Given the description of an element on the screen output the (x, y) to click on. 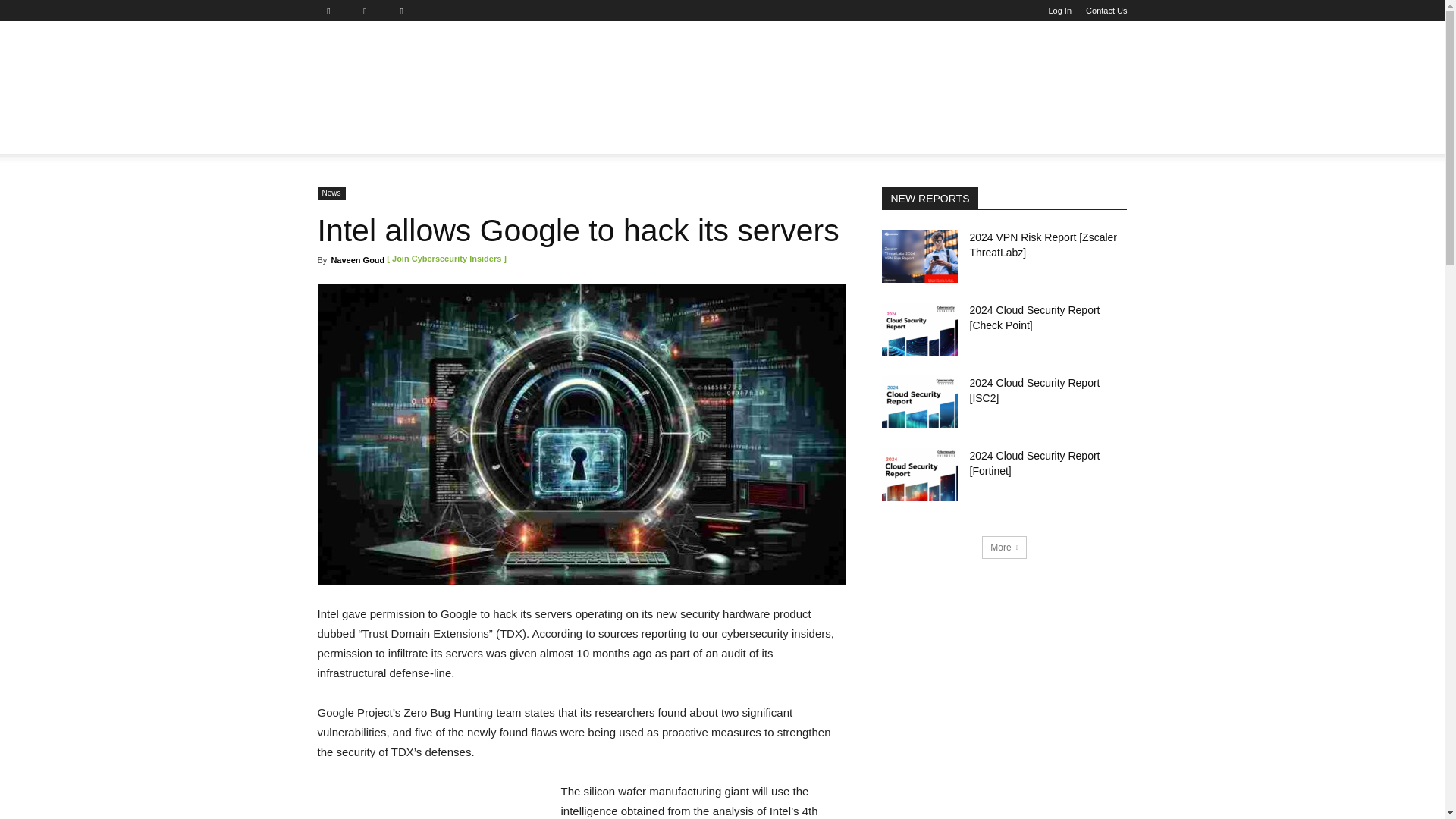
Linkedin (370, 10)
Facebook (333, 10)
Contact Us (1106, 10)
NEWS (343, 135)
Advertisement (829, 76)
News (343, 135)
Twitter (407, 10)
Log In (1059, 10)
